Given the description of an element on the screen output the (x, y) to click on. 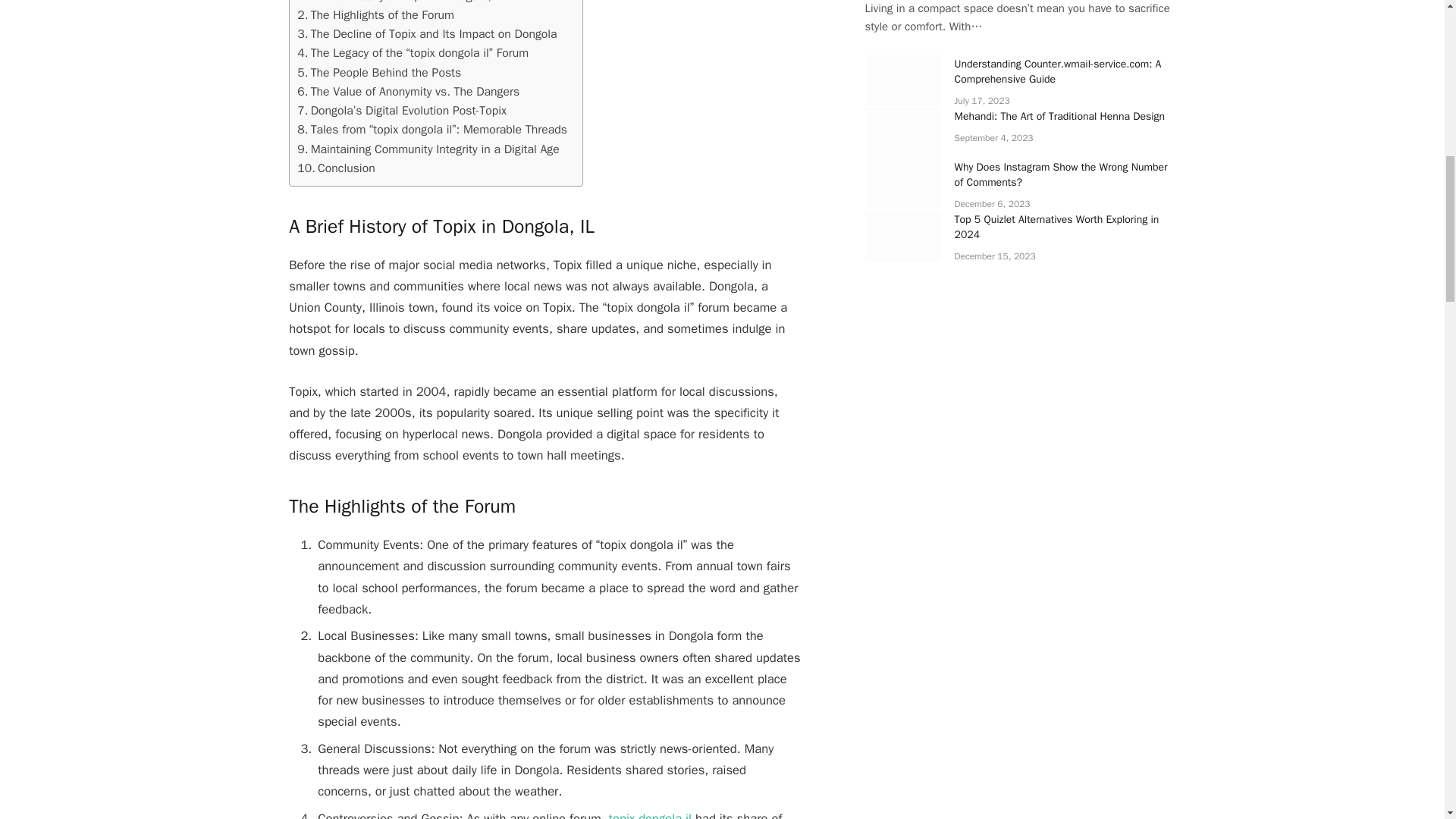
The Highlights of the Forum (375, 15)
A Brief History of Topix in Dongola, IL (400, 2)
